Given the description of an element on the screen output the (x, y) to click on. 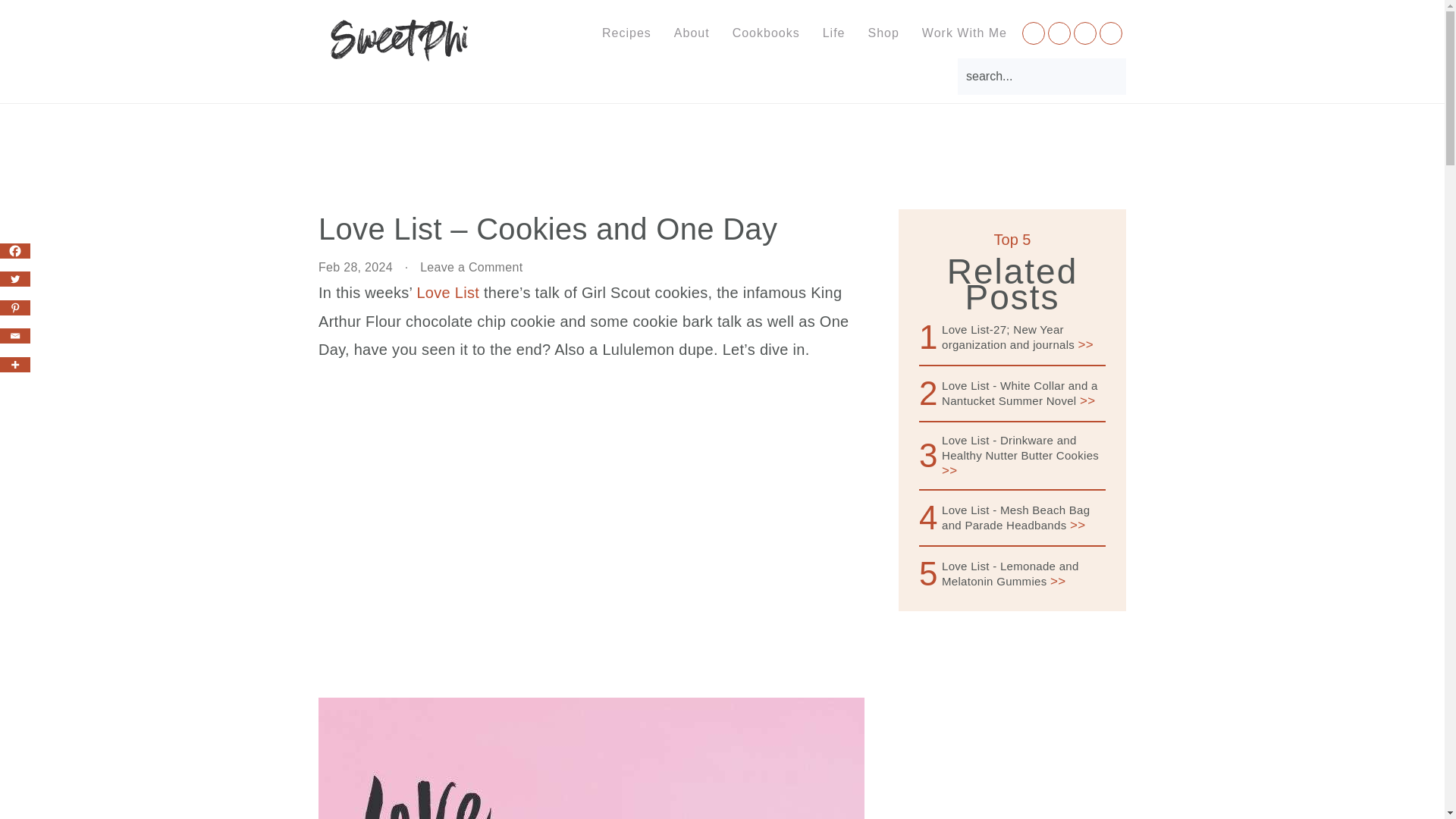
Email (15, 335)
About (691, 33)
Pinterest (15, 307)
Love List (447, 292)
Shop (883, 33)
Sweetphi (399, 40)
Sweetphi (399, 50)
Leave a Comment (471, 267)
Cookbooks (765, 33)
More (15, 364)
Recipes (626, 33)
Facebook (15, 250)
